Given the description of an element on the screen output the (x, y) to click on. 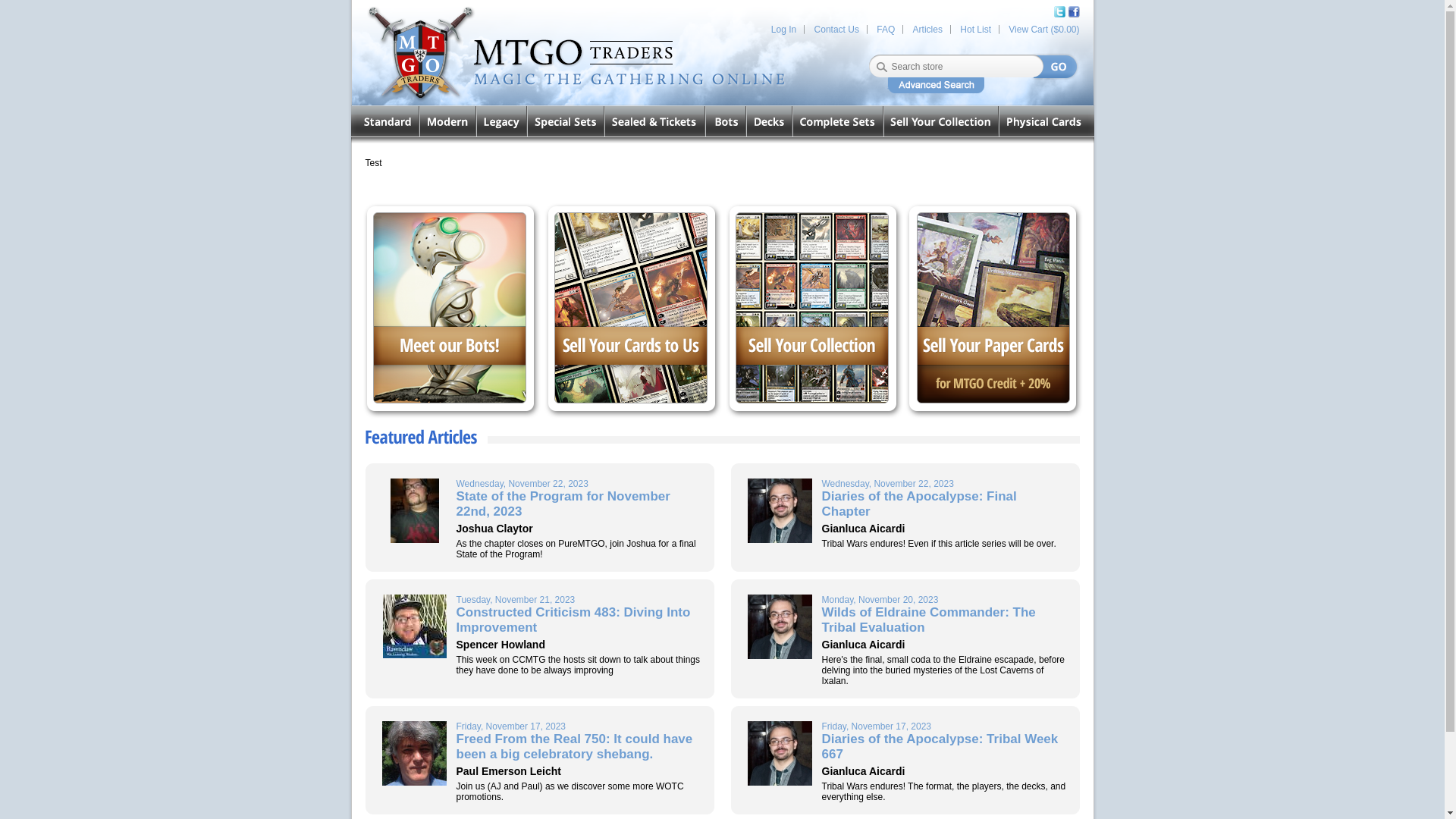
Tuesday, November 21, 2023 (580, 599)
State of the Program for November 22nd, 2023 (563, 503)
Facebook (1072, 11)
Articles (927, 29)
Contact Us (836, 29)
Friday, November 17, 2023 (945, 726)
Advanced Search (935, 84)
Wilds of Eldraine Commander: The Tribal Evaluation (928, 619)
Log In (783, 29)
Diaries of the Apocalypse: Tribal Week 667 (940, 746)
Go (1055, 66)
www.mtgotraders.com (511, 52)
Twiter (1059, 11)
Friday, November 17, 2023 (580, 726)
Wednesday, November 22, 2023 (945, 483)
